Given the description of an element on the screen output the (x, y) to click on. 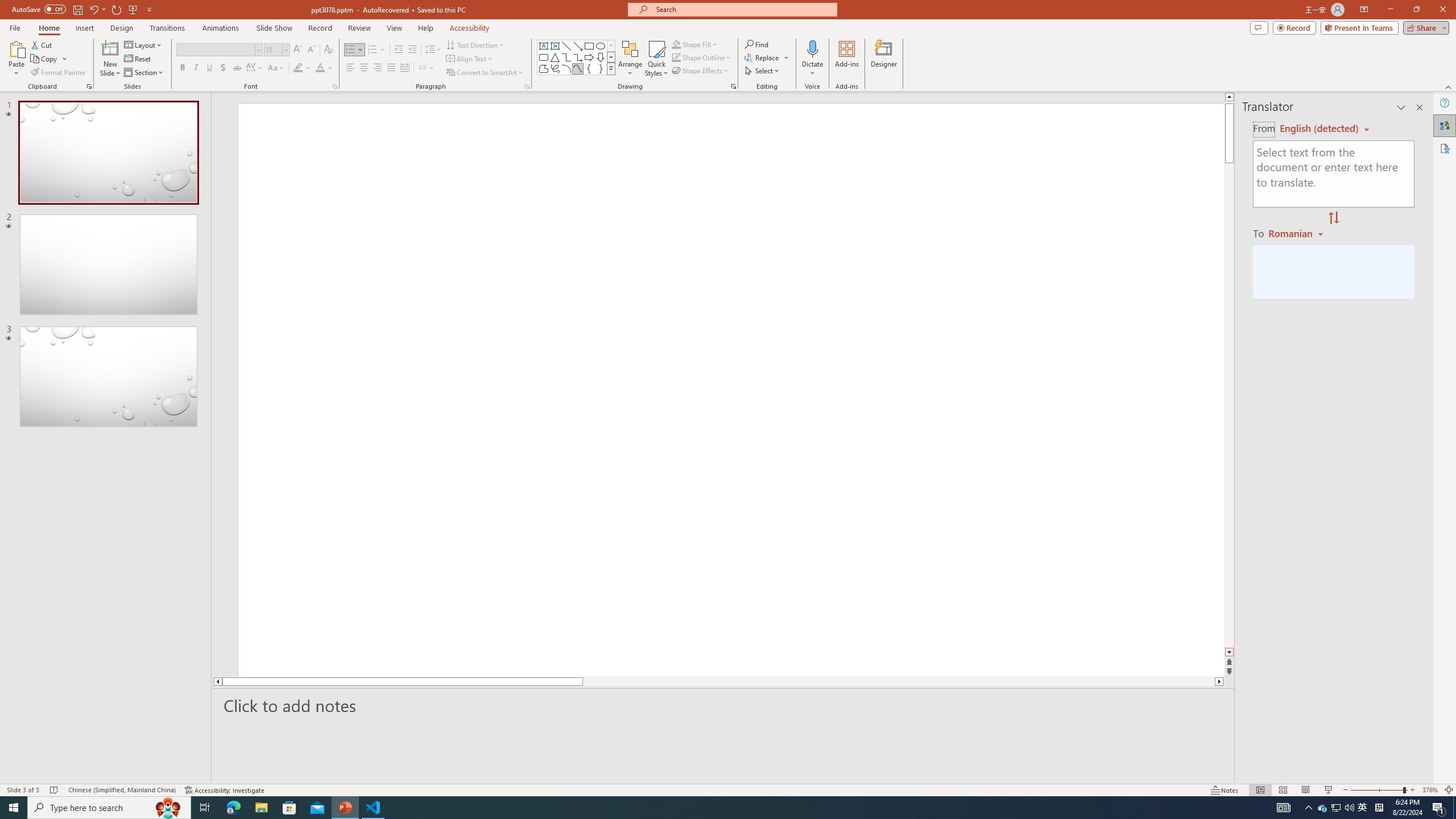
Numbering (376, 49)
Select (762, 69)
Format Object... (733, 85)
Align Right (377, 67)
Zoom 376% (1430, 790)
Arrow: Down (600, 57)
Freeform: Shape (543, 68)
Text Box (543, 45)
Shape Effects (700, 69)
Row up (611, 45)
